Given the description of an element on the screen output the (x, y) to click on. 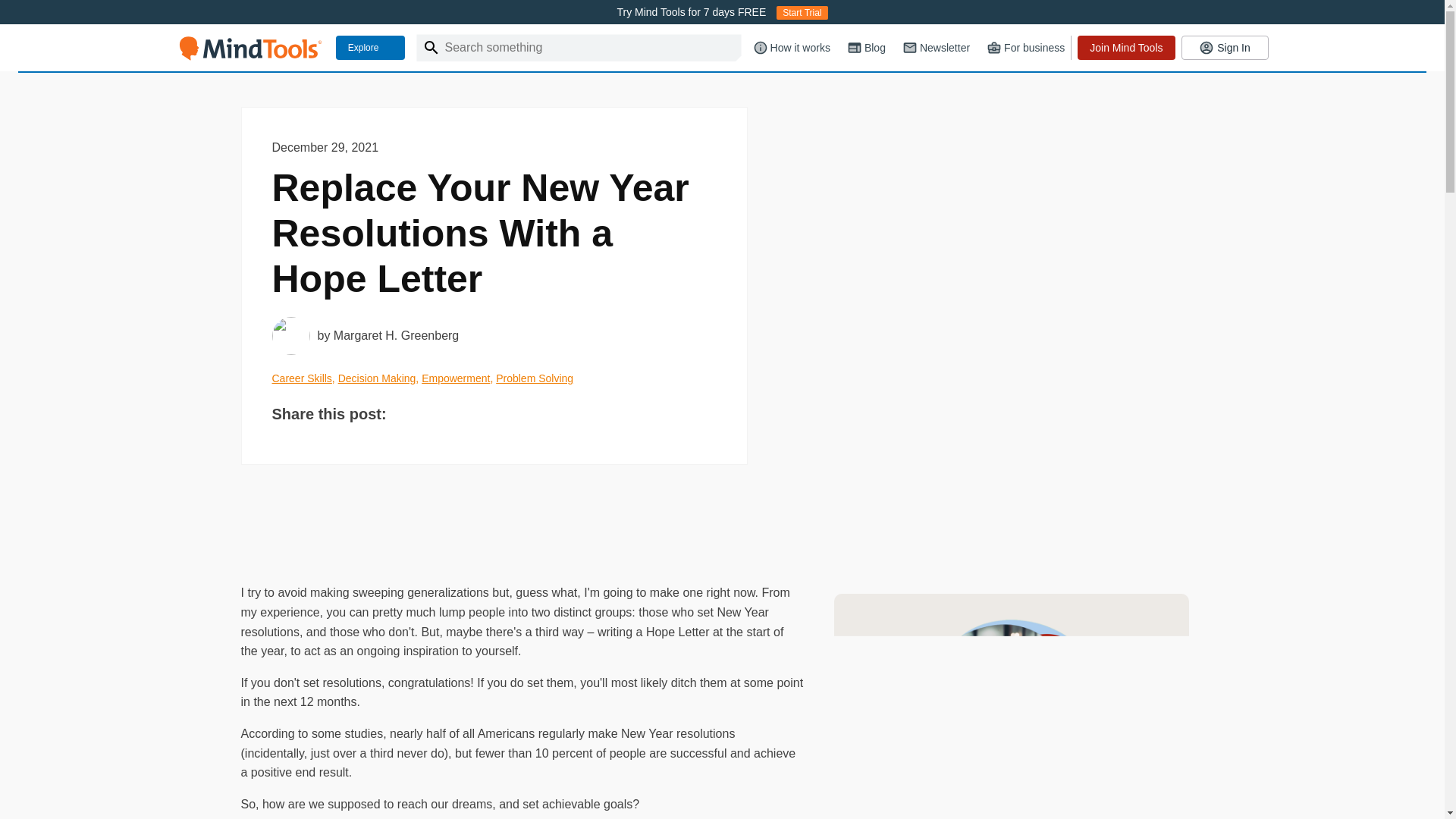
Explore (371, 47)
Weekly insights to help you thrive at work. (935, 47)
Start Trial (801, 12)
